Given the description of an element on the screen output the (x, y) to click on. 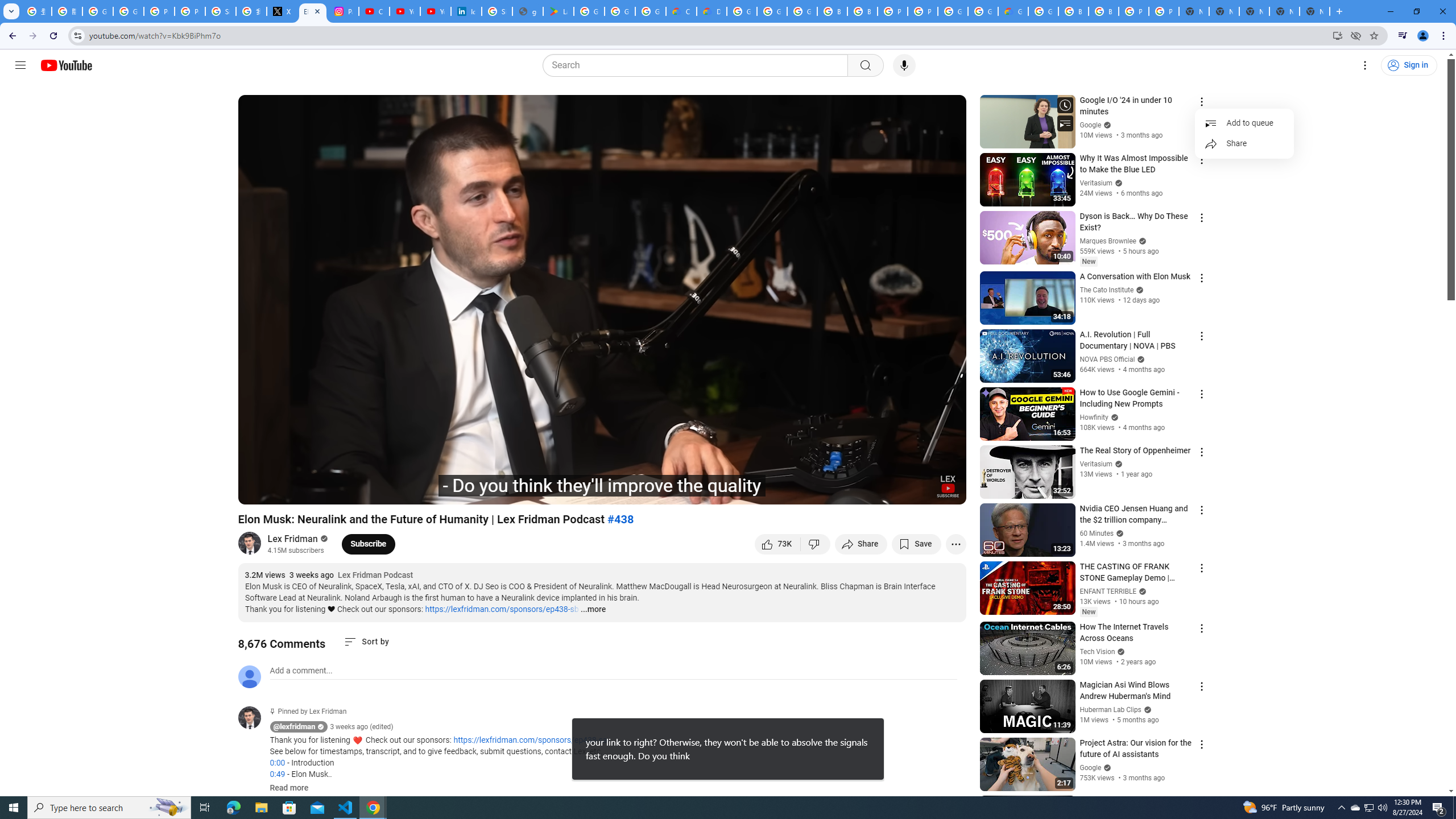
Mute (m) (312, 490)
Full screen (f) (945, 490)
Last Shelter: Survival - Apps on Google Play (558, 11)
https://lexfridman.com/sponsors/ep438-sb (502, 609)
0:49 (277, 773)
Sign in - Google Accounts (220, 11)
Share (1243, 143)
Save to playlist (915, 543)
